Given the description of an element on the screen output the (x, y) to click on. 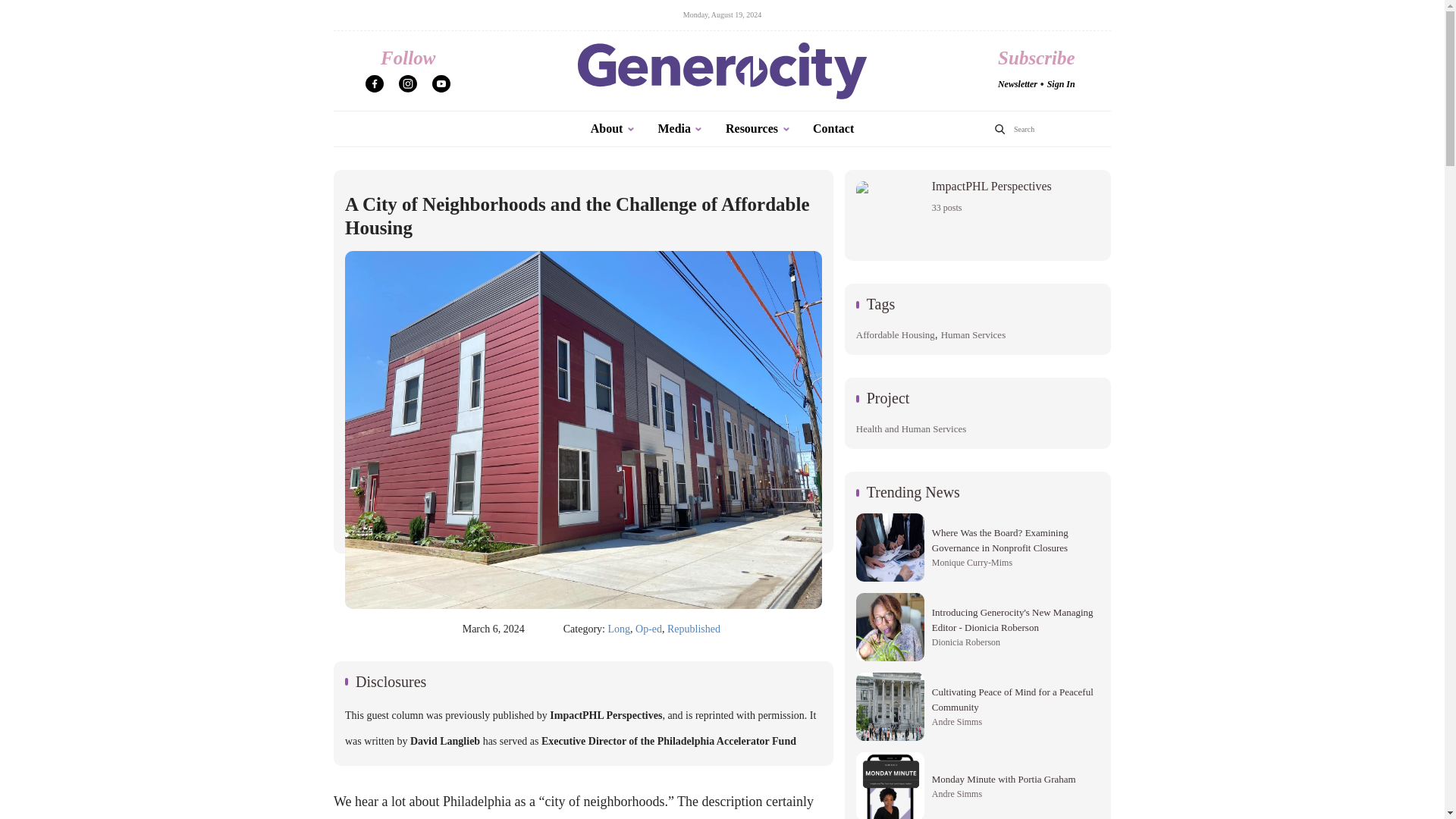
Op-ed (648, 628)
Newsletter (1016, 83)
About (612, 128)
Resources (757, 128)
Human Services (977, 785)
Sign In (973, 334)
Contact (1060, 83)
